Given the description of an element on the screen output the (x, y) to click on. 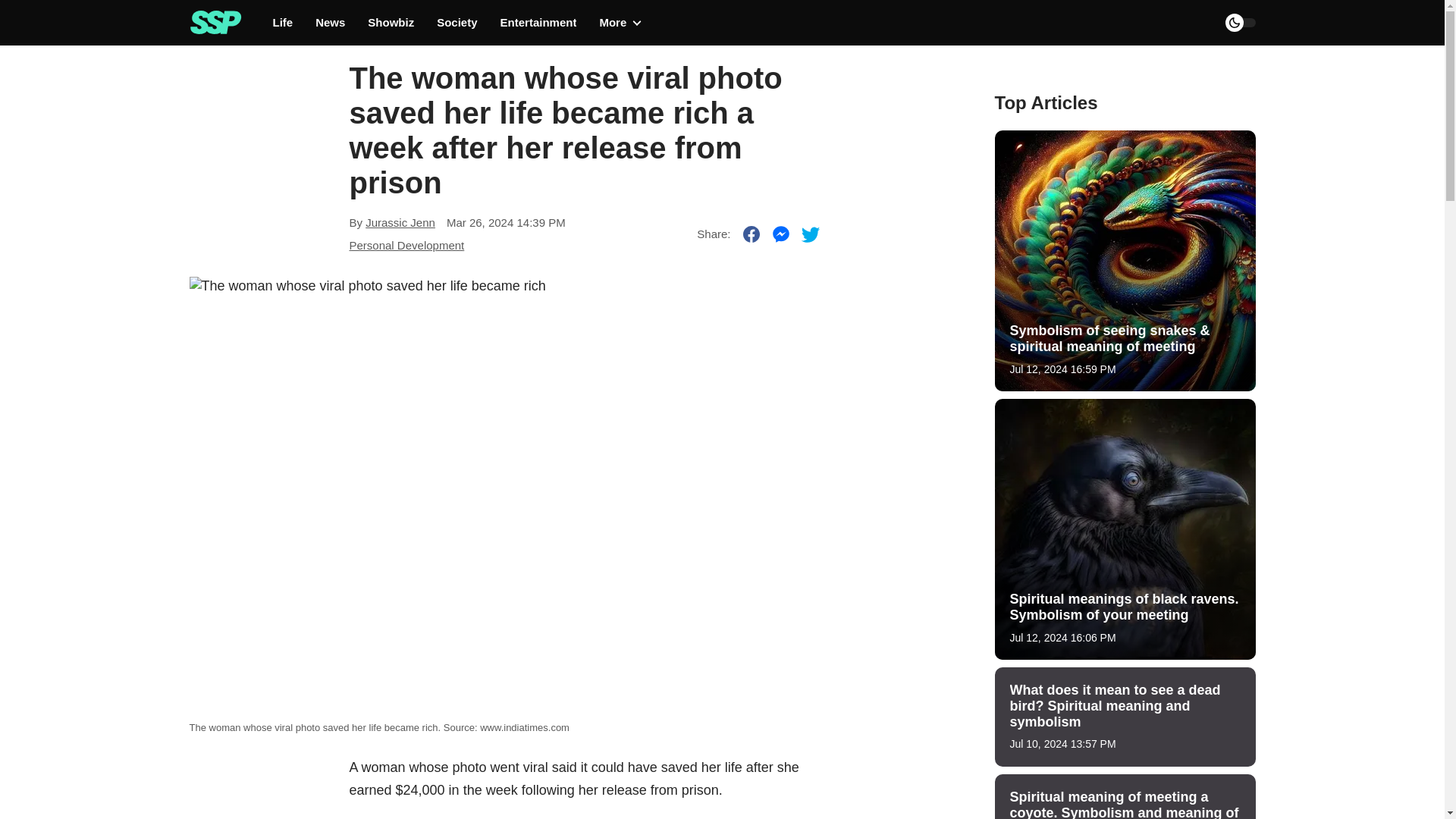
Life (283, 22)
Jurassic Jenn (400, 222)
Society (456, 22)
Entertainment (538, 22)
Showbiz (390, 22)
News (330, 22)
Personal Development (406, 245)
